Given the description of an element on the screen output the (x, y) to click on. 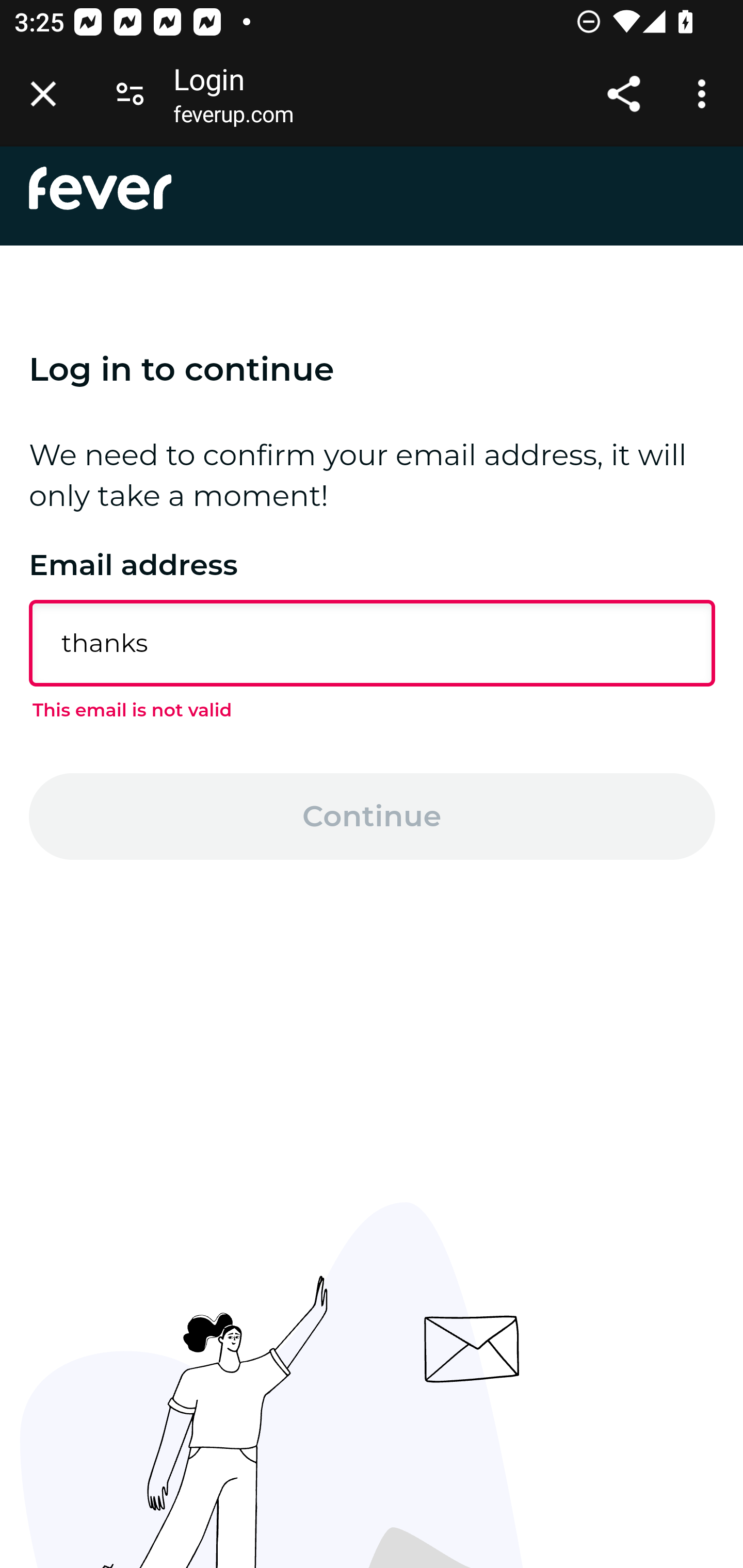
Close tab (43, 93)
Share link address (623, 93)
Customize and control Google Chrome (705, 93)
Connection is secure (129, 93)
feverup.com (233, 117)
en (100, 187)
thanks (372, 642)
Continue (372, 816)
